Given the description of an element on the screen output the (x, y) to click on. 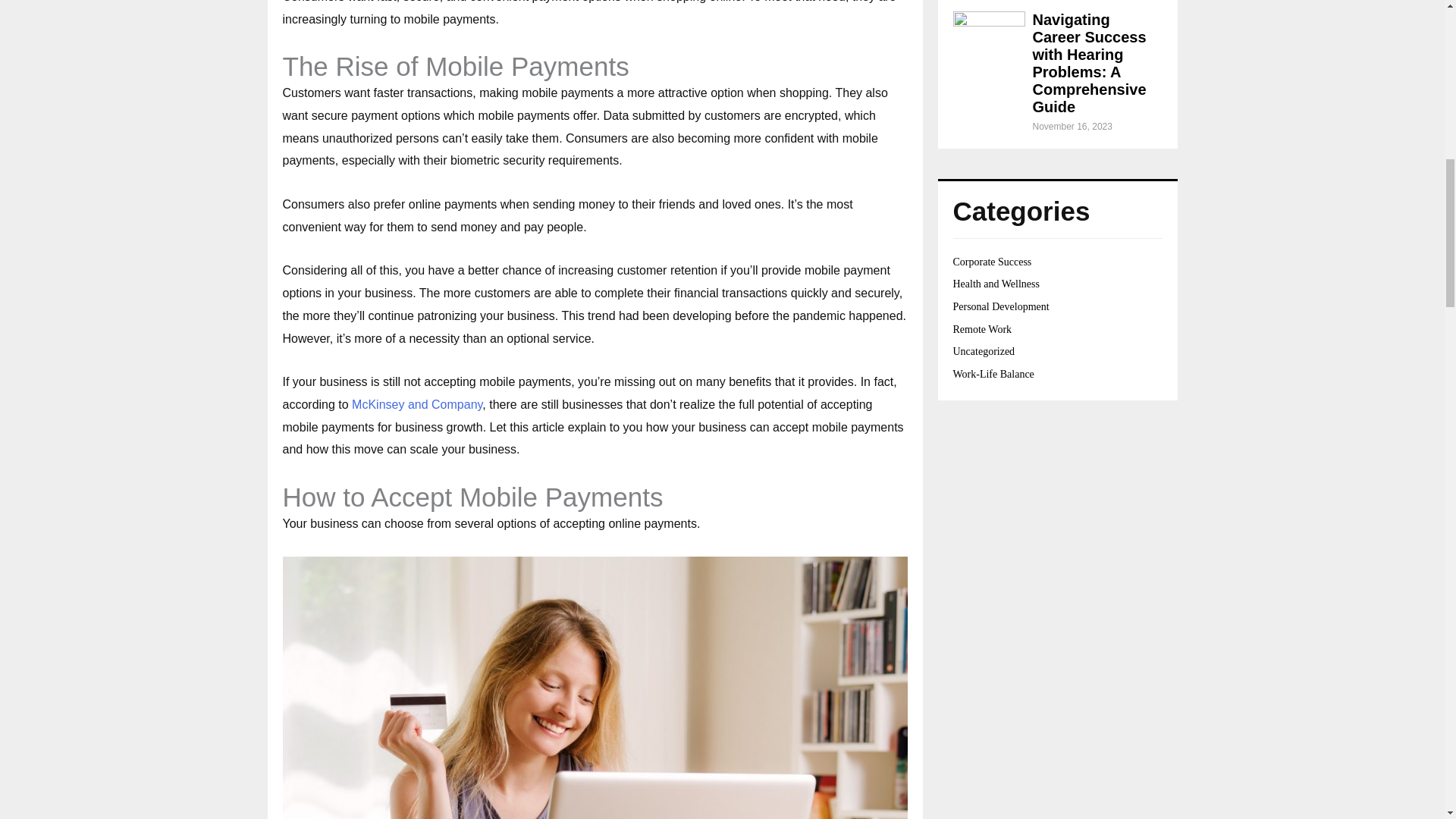
Corporate Success (991, 261)
Uncategorized (983, 351)
Personal Development (1000, 306)
Remote Work (981, 328)
Health and Wellness (995, 283)
McKinsey and Company (416, 404)
Work-Life Balance (992, 374)
